Given the description of an element on the screen output the (x, y) to click on. 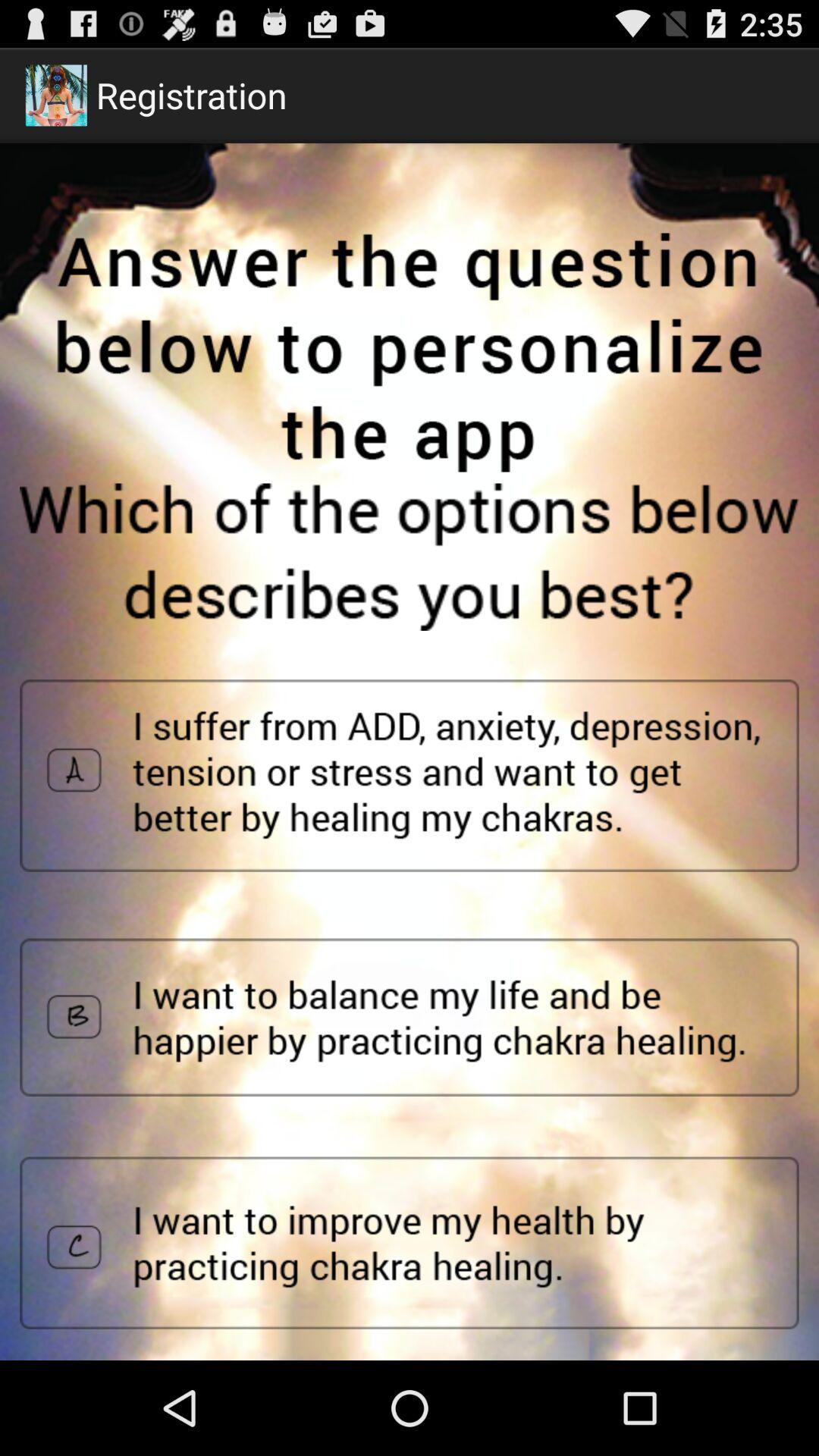
to select option (409, 1017)
